Given the description of an element on the screen output the (x, y) to click on. 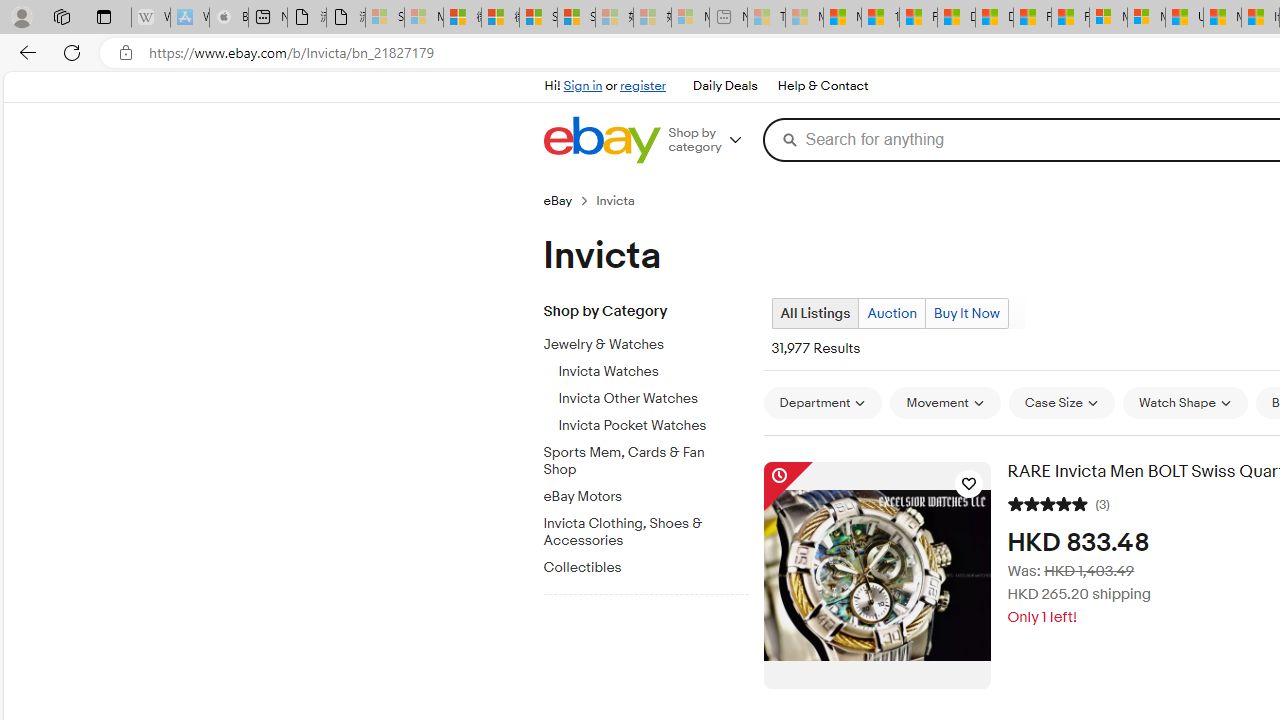
Invicta Other Watches (653, 399)
Buy iPad - Apple - Sleeping (228, 17)
Invicta (623, 200)
Movement (944, 403)
Sign in to your Microsoft account - Sleeping (385, 17)
eBay Home (601, 139)
Buy It Now (966, 313)
Movement (944, 402)
eBay Motors (653, 493)
Drinking tea every day is proven to delay biological aging (993, 17)
All Listings (814, 313)
